Given the description of an element on the screen output the (x, y) to click on. 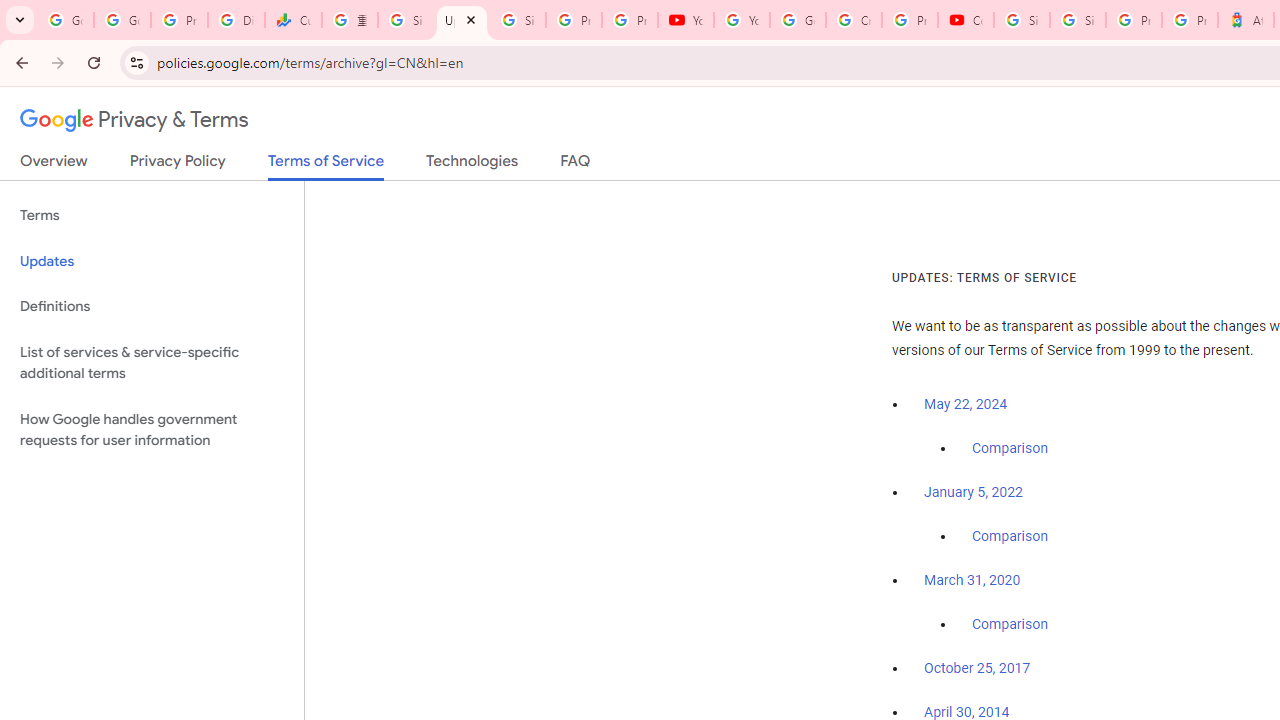
January 5, 2022 (973, 492)
Sign in - Google Accounts (405, 20)
Privacy Checkup (629, 20)
Create your Google Account (853, 20)
Currencies - Google Finance (293, 20)
